Given the description of an element on the screen output the (x, y) to click on. 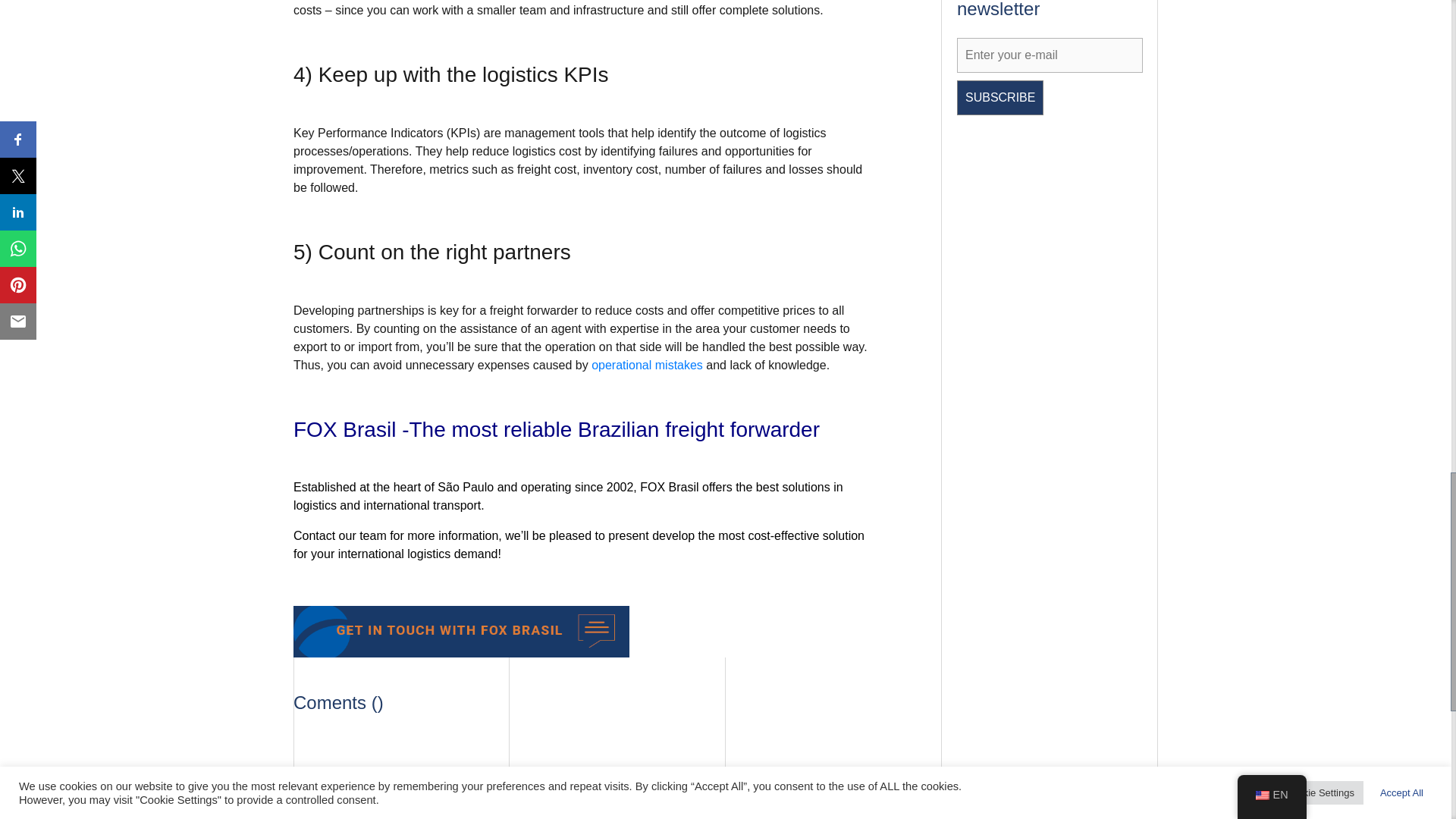
SUBSCRIBE (999, 97)
operational mistakes (647, 364)
